Given the description of an element on the screen output the (x, y) to click on. 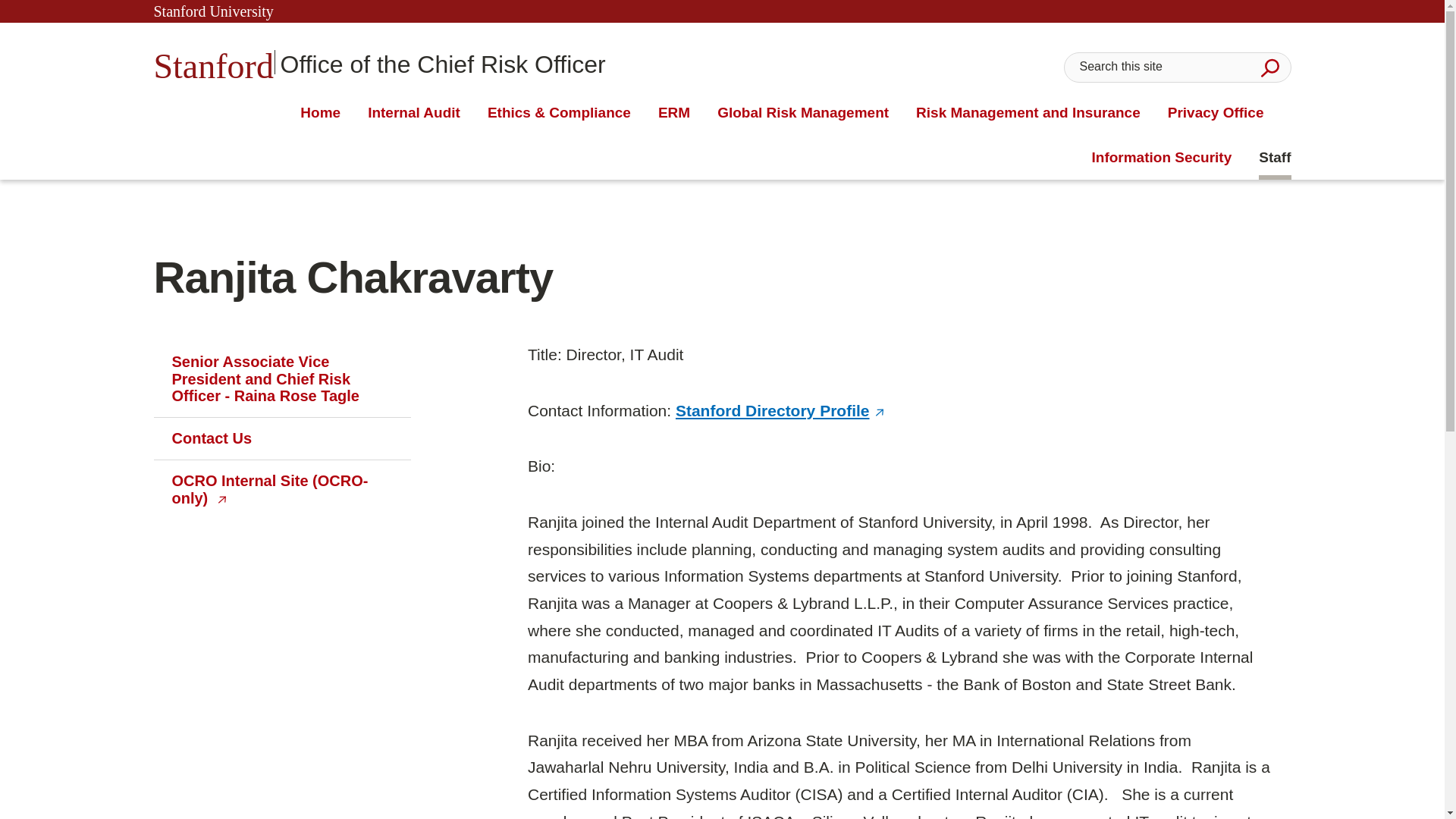
Internal Audit (378, 61)
Home (414, 112)
Submit Search (319, 112)
